Given the description of an element on the screen output the (x, y) to click on. 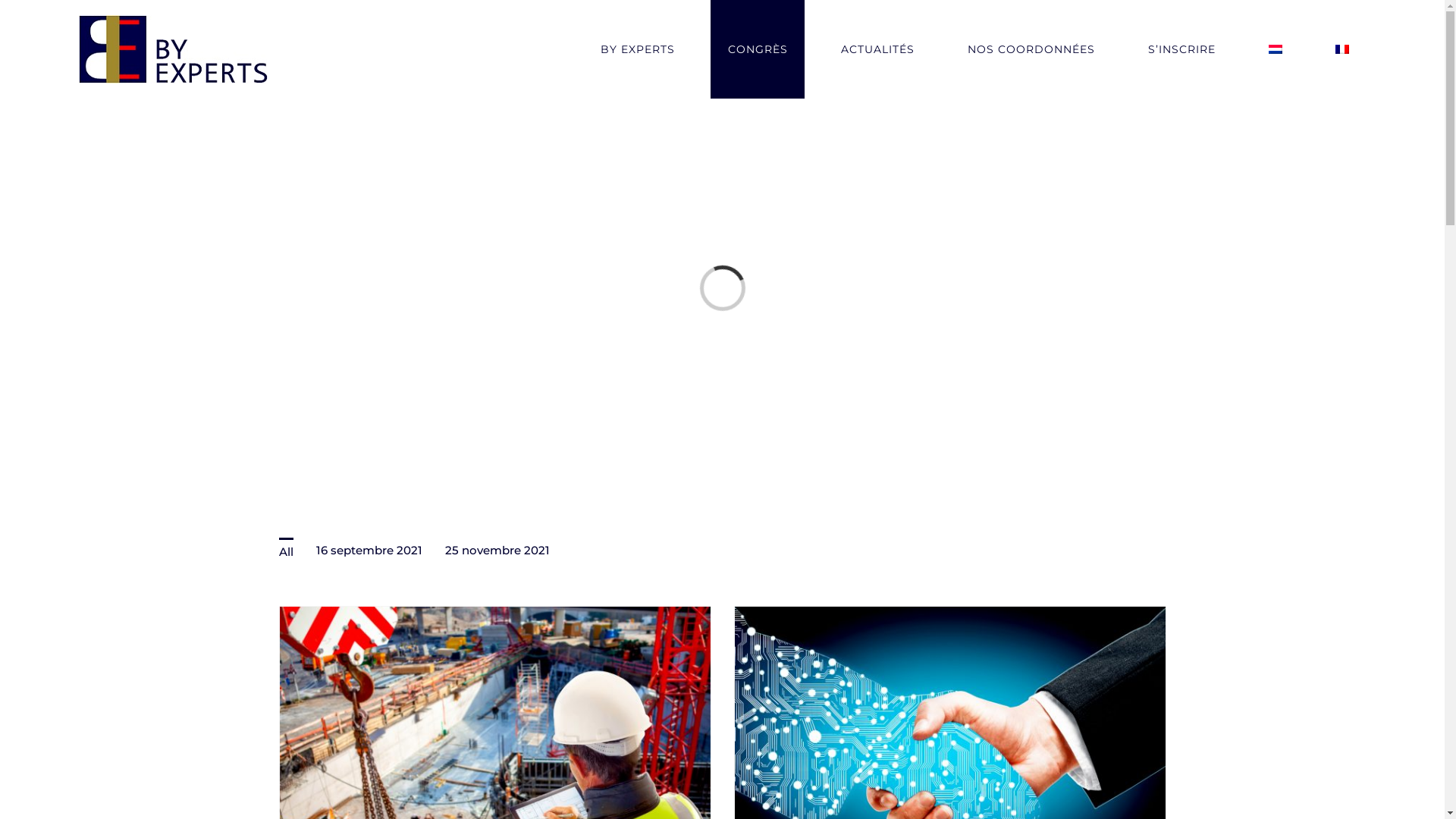
16 septembre 2021 Element type: text (368, 550)
Nederlands Element type: hover (1275, 48)
25 novembre 2021 Element type: text (496, 550)
All Element type: text (286, 550)
BY EXPERTS Element type: text (637, 49)
